Given the description of an element on the screen output the (x, y) to click on. 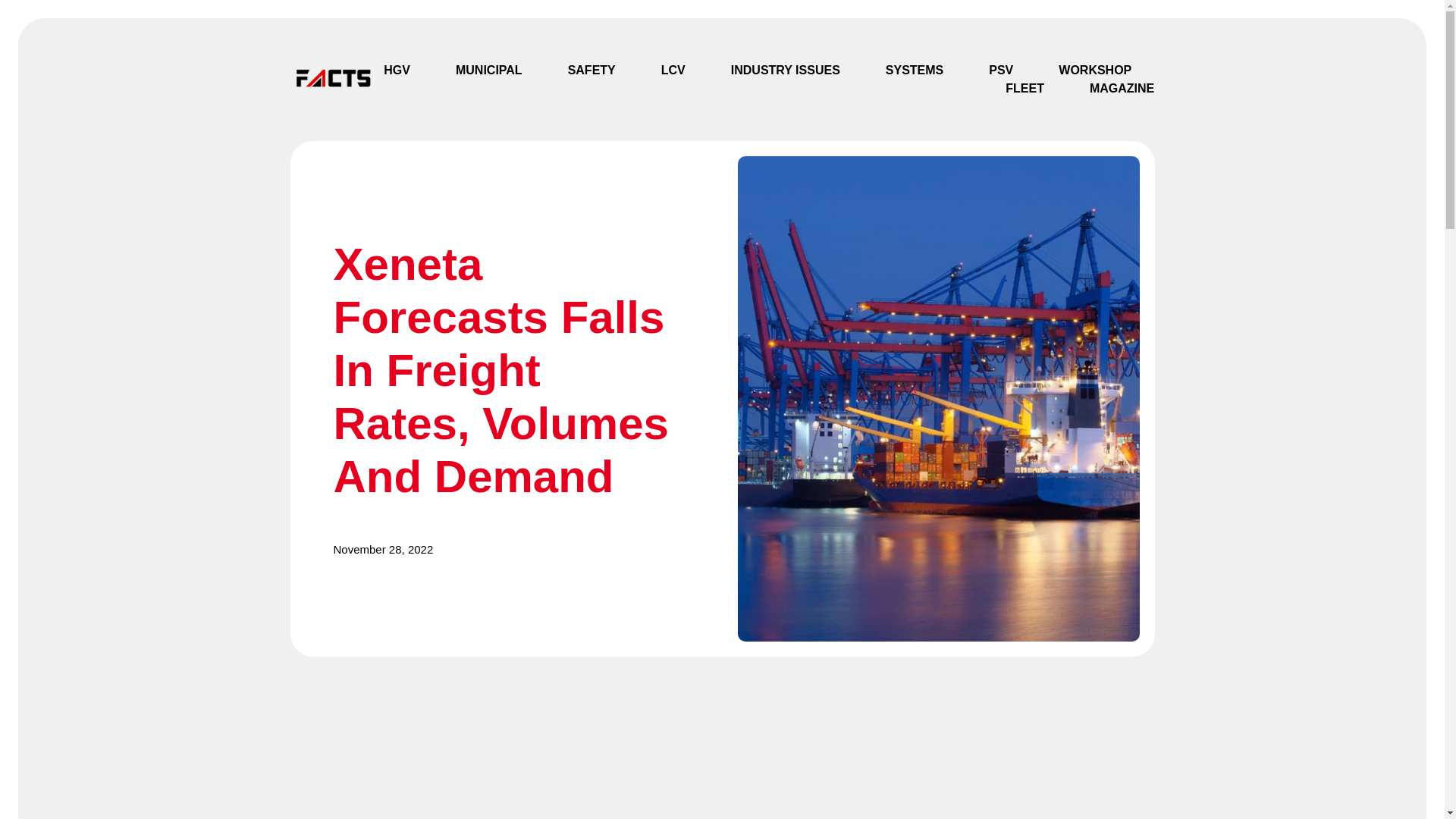
LCV (673, 70)
MAGAZINE (1121, 88)
WORKSHOP (1094, 70)
SYSTEMS (914, 70)
HGV (397, 70)
INDUSTRY ISSUES (785, 70)
SAFETY (591, 70)
MUNICIPAL (488, 70)
FLEET (1024, 88)
PSV (1000, 70)
